Given the description of an element on the screen output the (x, y) to click on. 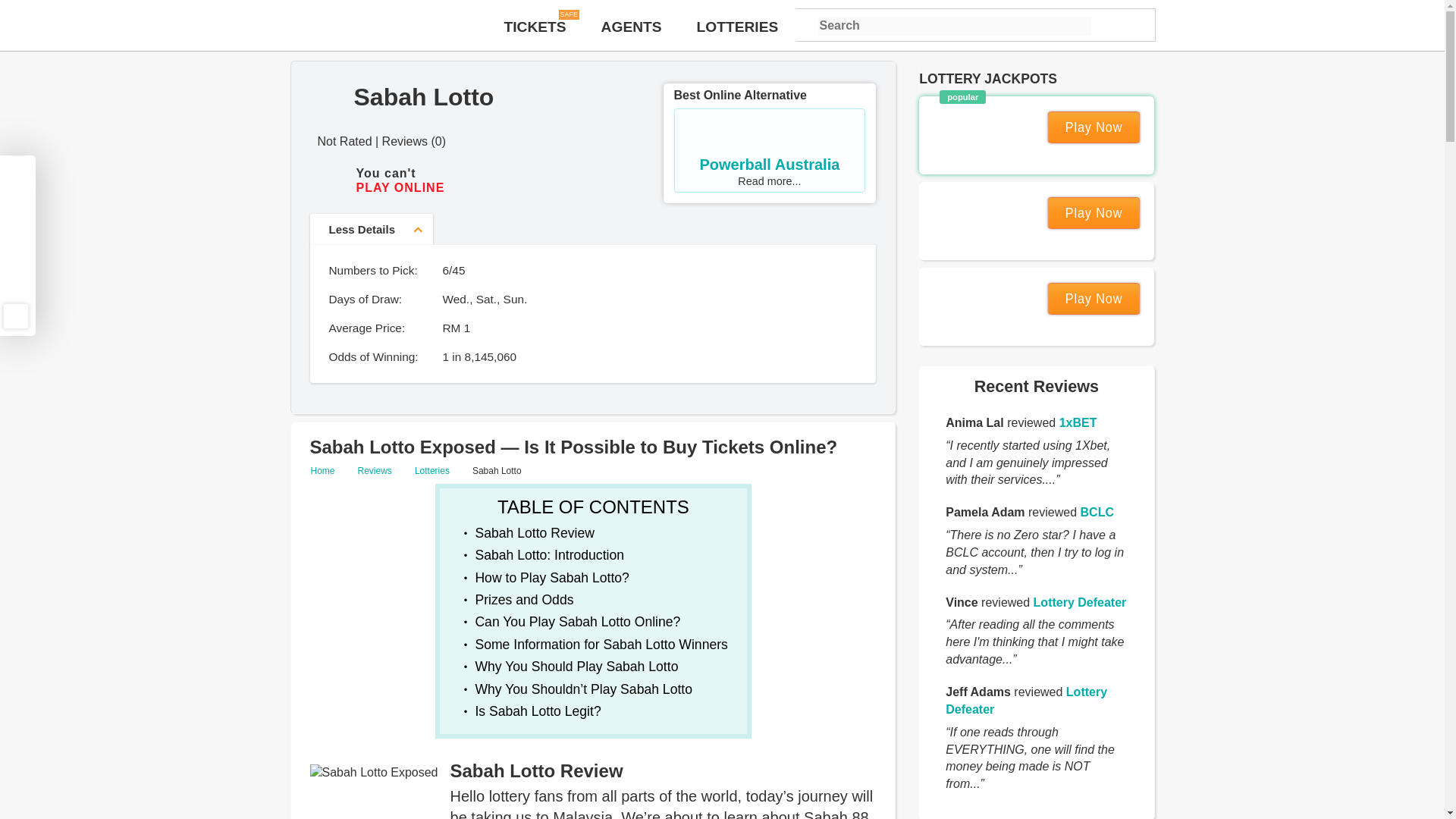
Prizes and Odds (523, 599)
Sabah Lotto: Introduction (770, 150)
Lottery Defeater (549, 554)
Home (1079, 602)
TICKETS (329, 470)
1xBET (534, 26)
Share via WhatsApp (1078, 422)
Play Now (15, 231)
LOTTERIES (1098, 213)
Share via Messenger (737, 26)
Sabah Lotto Exposed (15, 288)
Why You Should Play Sabah Lotto (373, 791)
Play Now (576, 666)
Reviews (1098, 127)
